Given the description of an element on the screen output the (x, y) to click on. 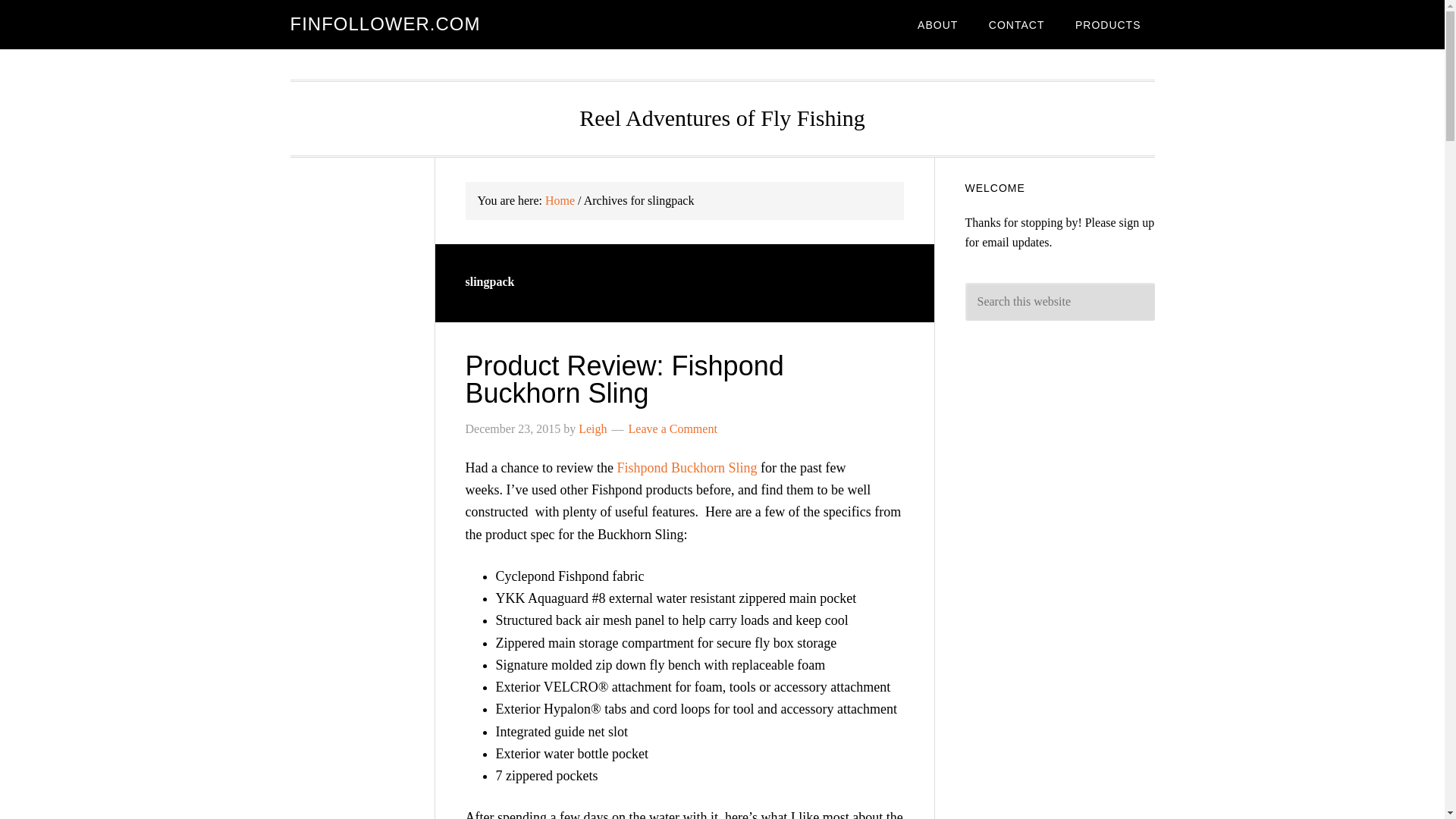
Product Review: Fishpond Buckhorn Sling (624, 379)
Leigh (592, 428)
Leave a Comment (672, 428)
ABOUT (937, 24)
CONTACT (1016, 24)
FINFOLLOWER.COM (384, 23)
Home (559, 200)
Fishpond Buckhorn Sling (686, 467)
